Given the description of an element on the screen output the (x, y) to click on. 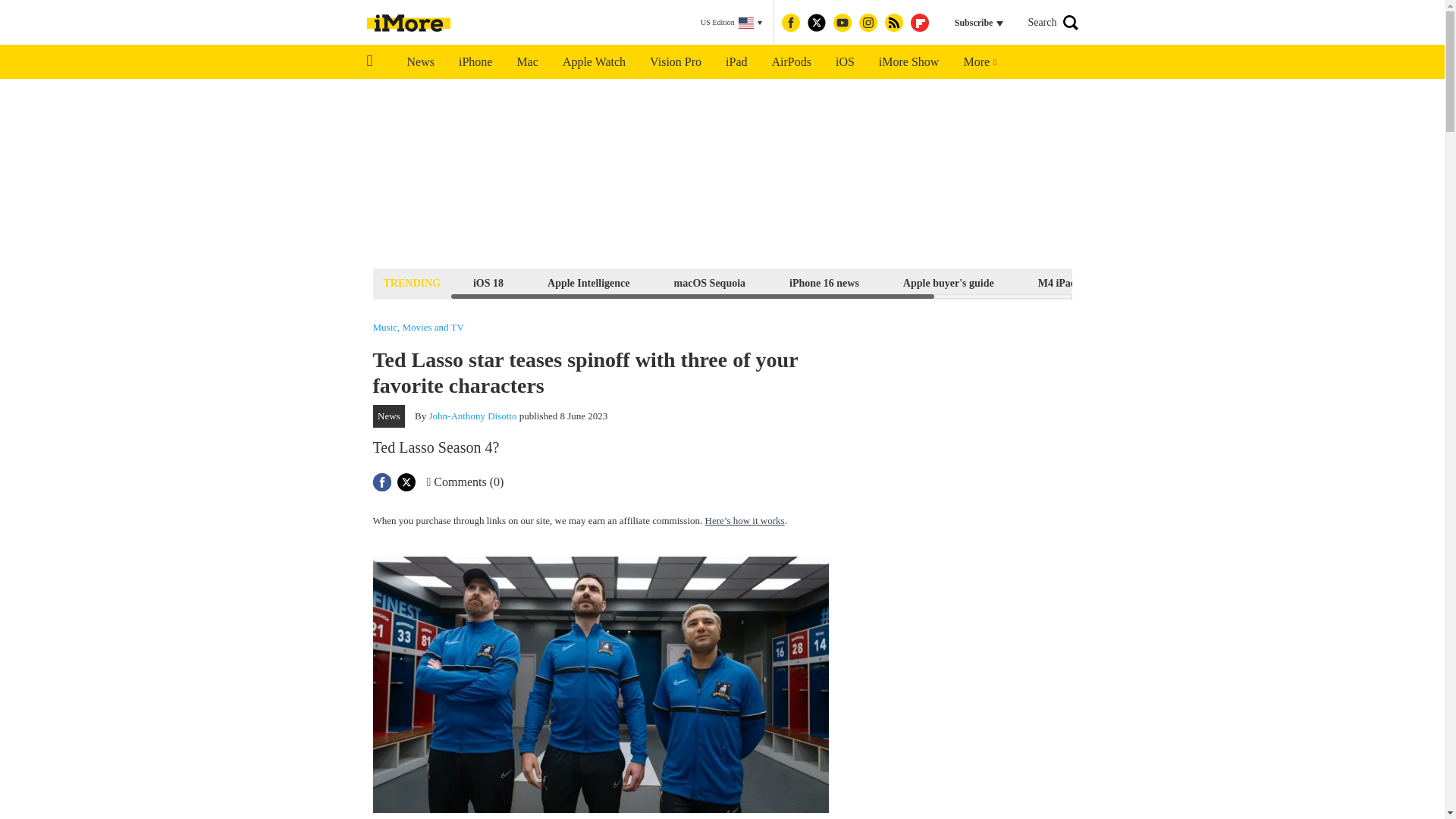
iPad (735, 61)
iOS (845, 61)
iMore Show (909, 61)
iPhone (474, 61)
Apple Watch (593, 61)
US Edition (731, 22)
Mac (526, 61)
AirPods (792, 61)
Vision Pro (675, 61)
News (419, 61)
